Given the description of an element on the screen output the (x, y) to click on. 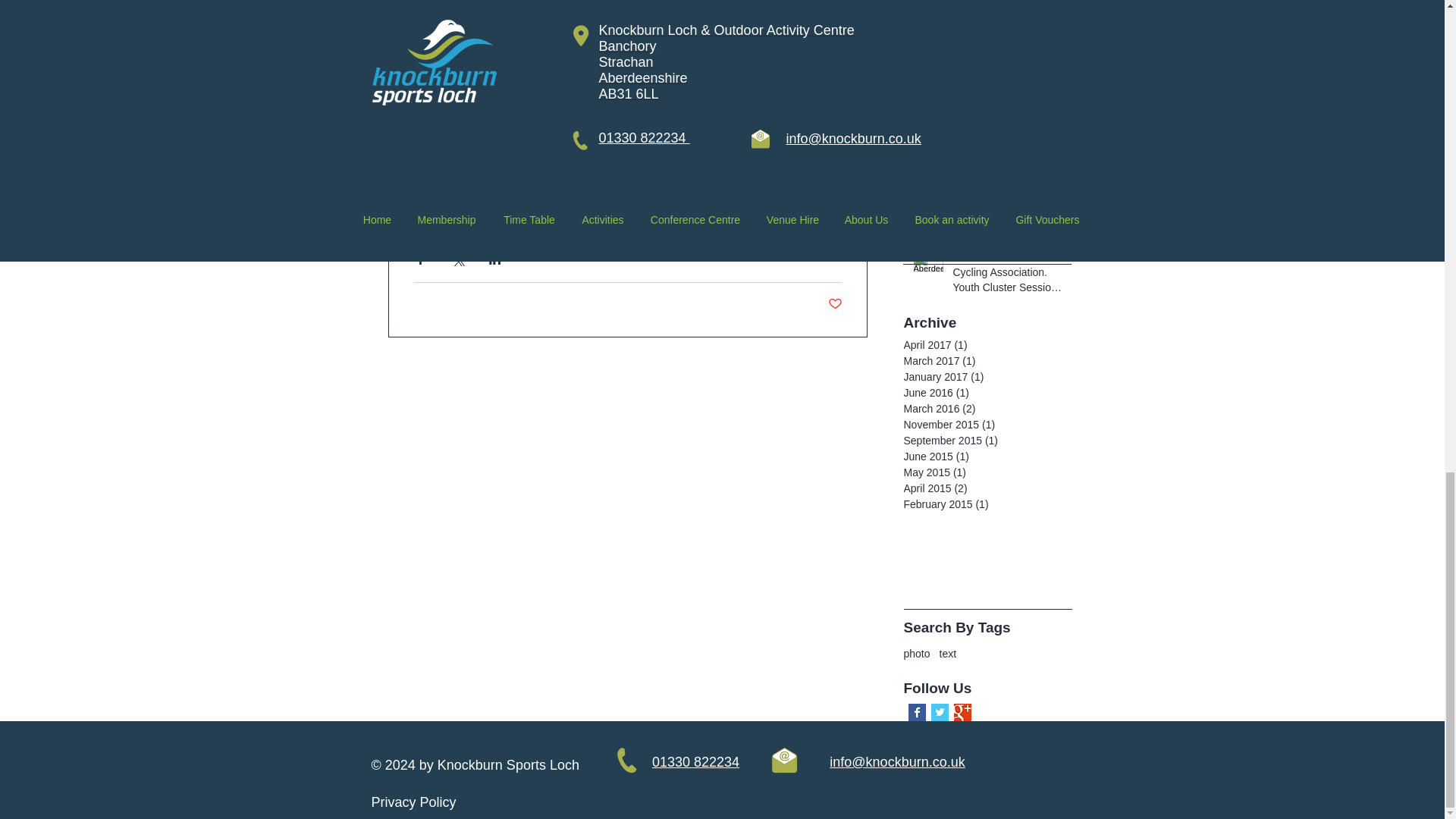
Winter Triathlon for Children in Need (1006, 9)
Post not marked as liked (835, 304)
Summer of Triathlon (1006, 76)
